Given the description of an element on the screen output the (x, y) to click on. 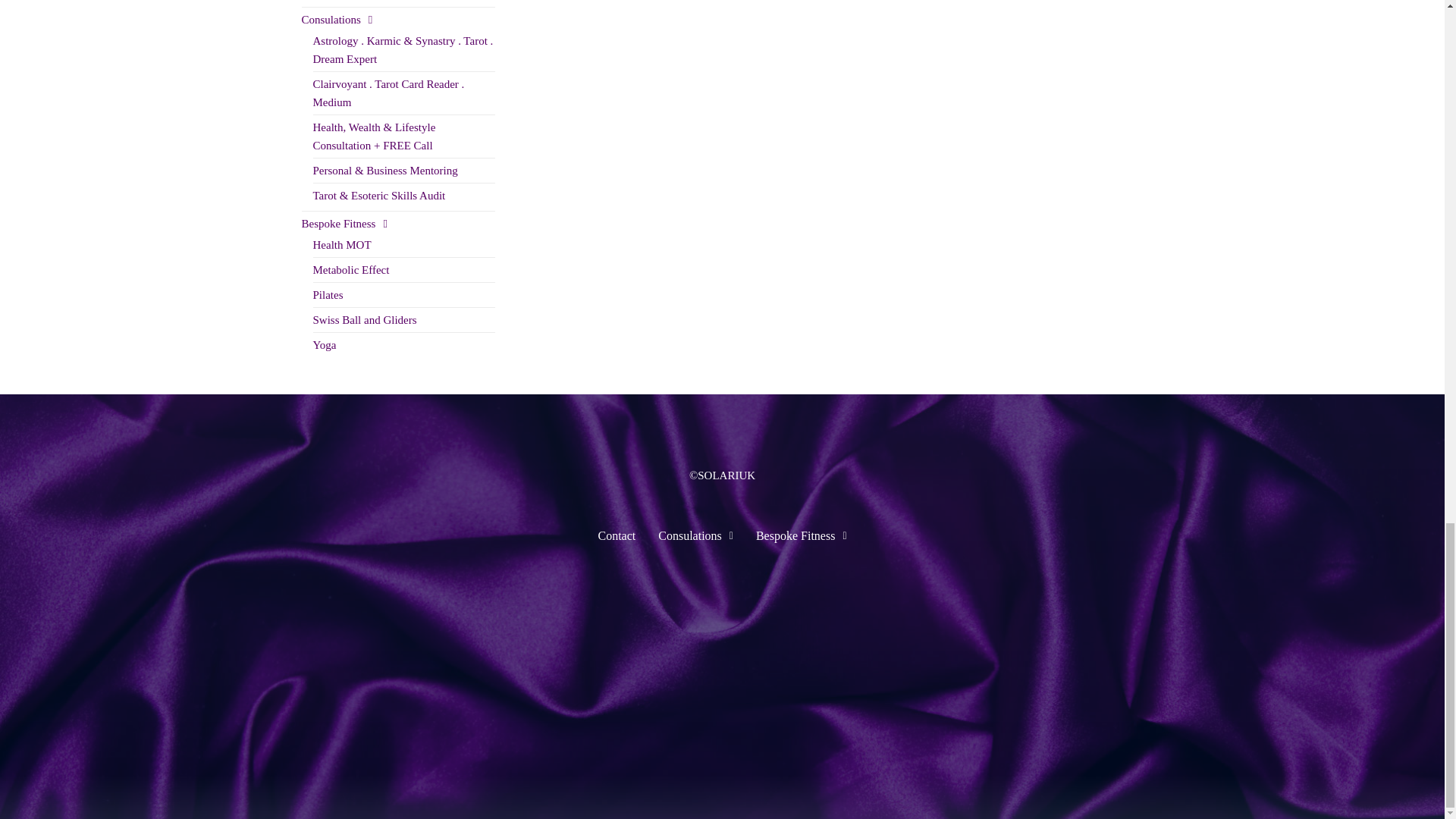
Consulations (336, 19)
Clairvoyant . Tarot Card Reader . Medium (388, 92)
